Given the description of an element on the screen output the (x, y) to click on. 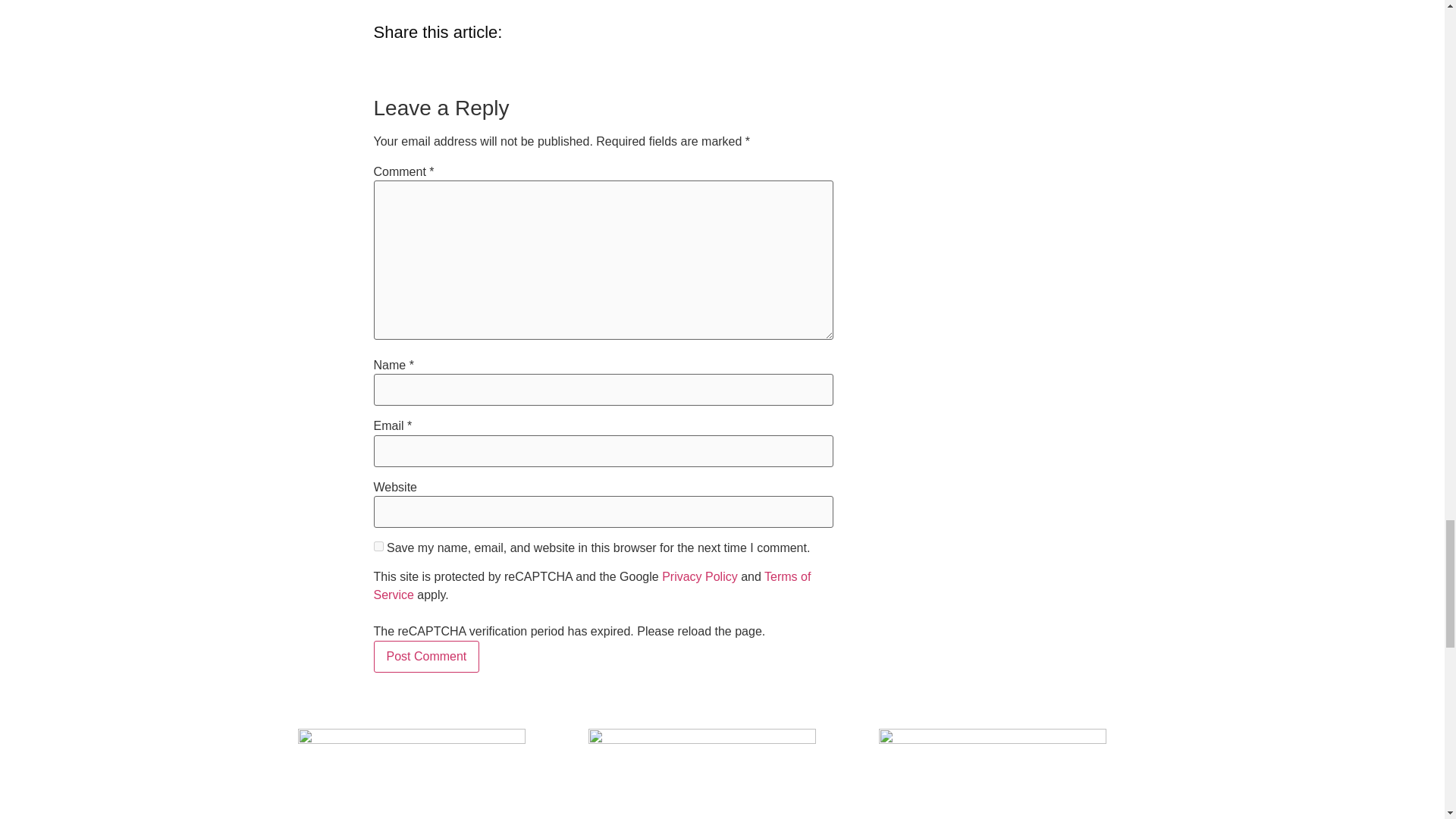
Post Comment (425, 656)
yes (377, 546)
Privacy Policy (700, 576)
Post Comment (425, 656)
Terms of Service (591, 585)
